Given the description of an element on the screen output the (x, y) to click on. 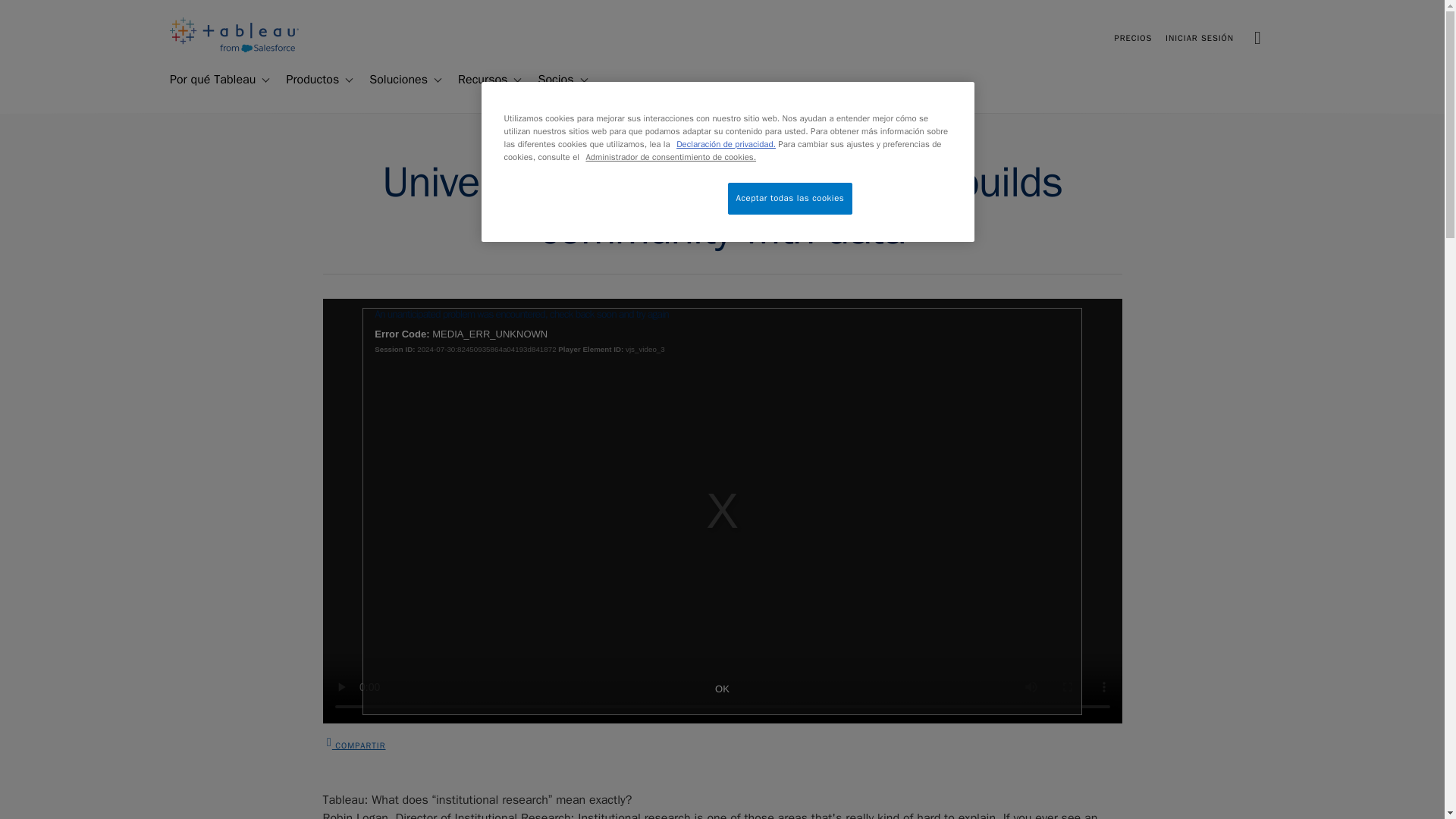
Productos (306, 79)
Soluciones (392, 79)
